Given the description of an element on the screen output the (x, y) to click on. 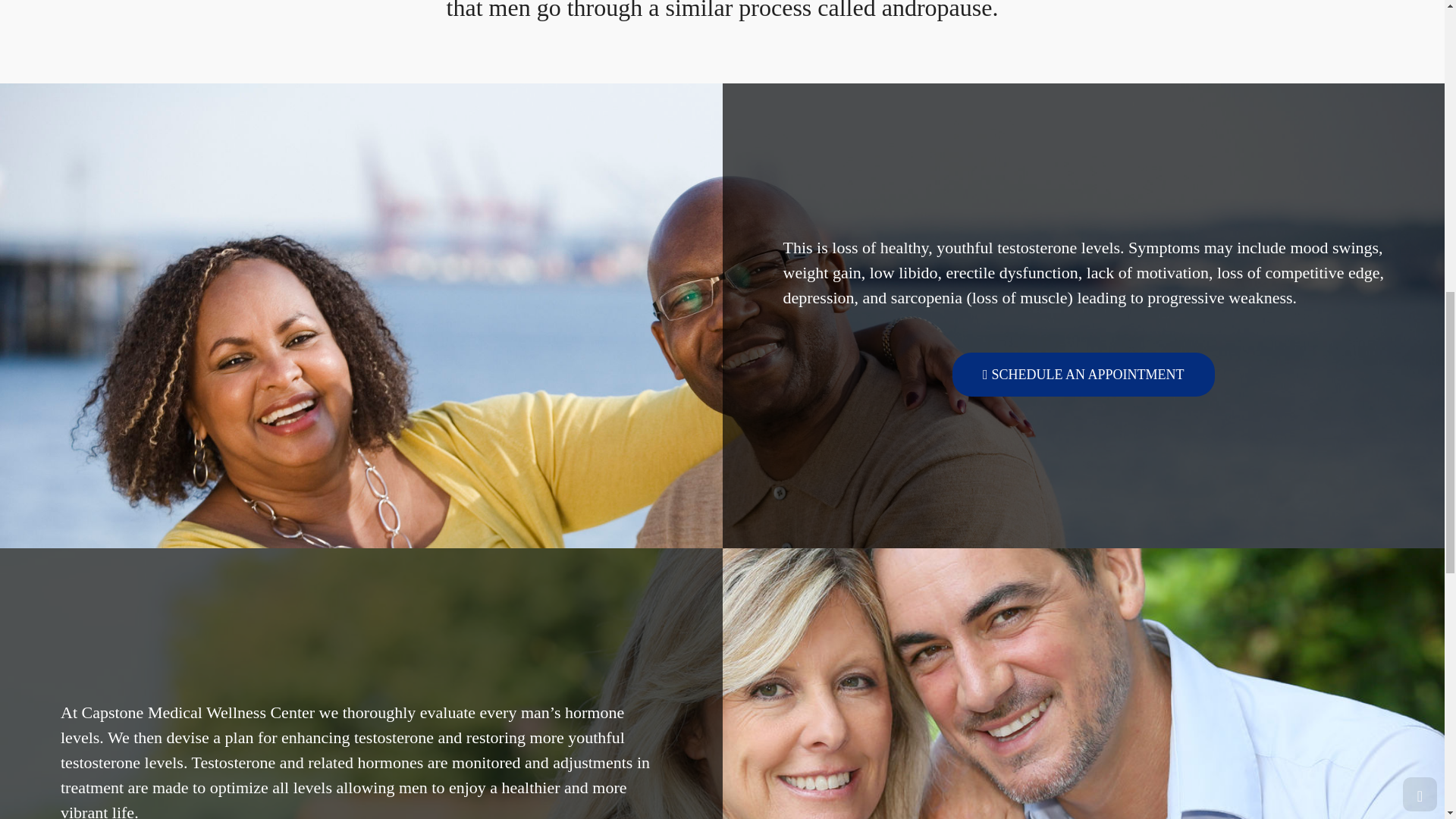
SCHEDULE AN APPOINTMENT (1083, 374)
